Given the description of an element on the screen output the (x, y) to click on. 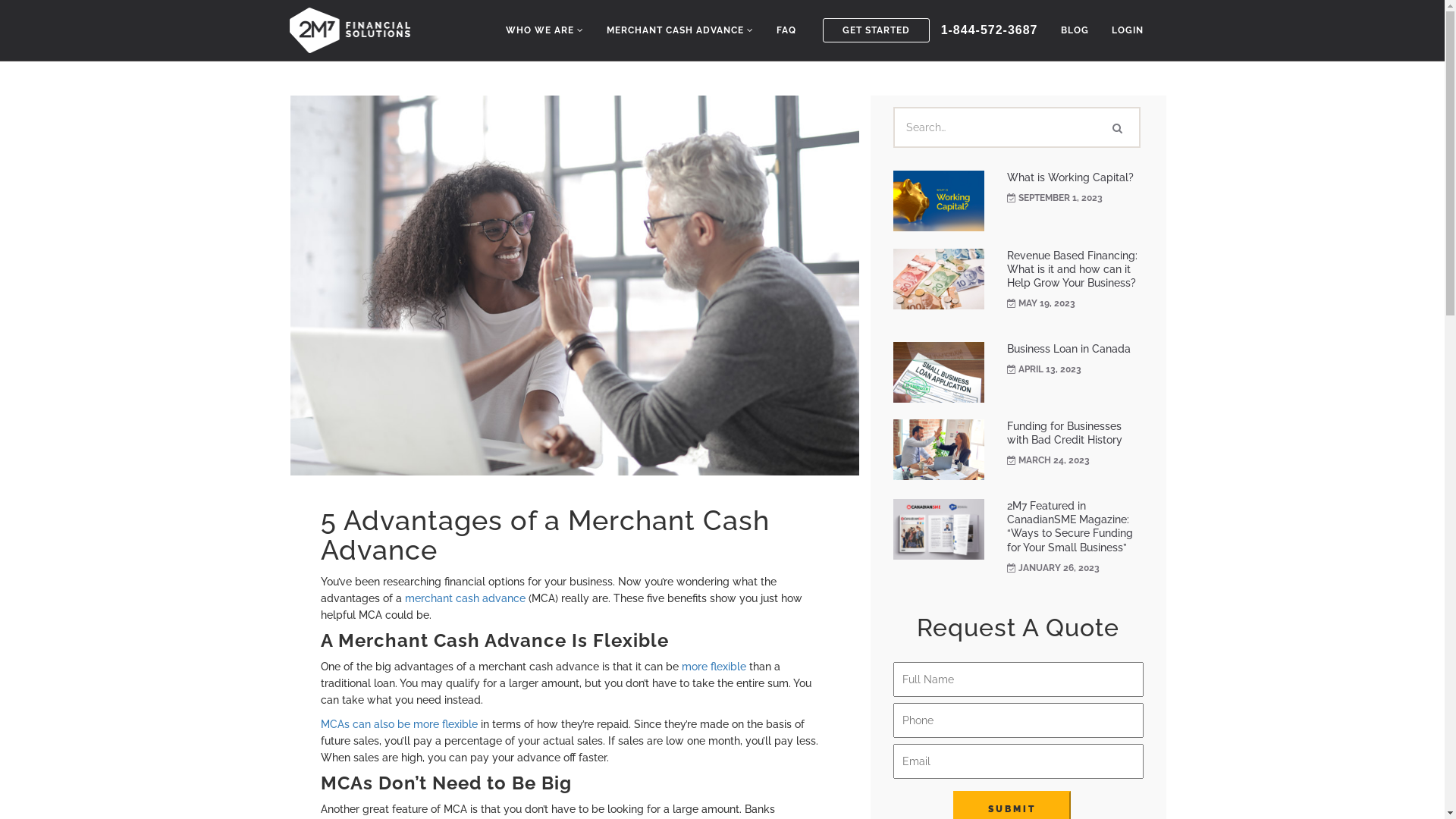
LOGIN Element type: text (1126, 30)
Business Loan in Canada Element type: text (1068, 348)
BLOG Element type: text (1074, 30)
FAQ Element type: text (786, 30)
Post Image Element type: hover (938, 372)
merchant cash advance Element type: text (464, 598)
MERCHANT CASH ADVANCE Element type: text (680, 30)
1-844-572-3687 Element type: text (989, 30)
GET STARTED Element type: text (875, 30)
WHO WE ARE Element type: text (544, 30)
What is Working Capital? Element type: text (1070, 177)
Post Image Element type: hover (938, 449)
Post Image Element type: hover (938, 278)
Post Image Element type: hover (938, 200)
Post Image Element type: hover (938, 528)
MCAs can also be more flexible Element type: text (398, 724)
more flexible Element type: text (711, 666)
Funding for Businesses with Bad Credit History Element type: text (1064, 432)
